Given the description of an element on the screen output the (x, y) to click on. 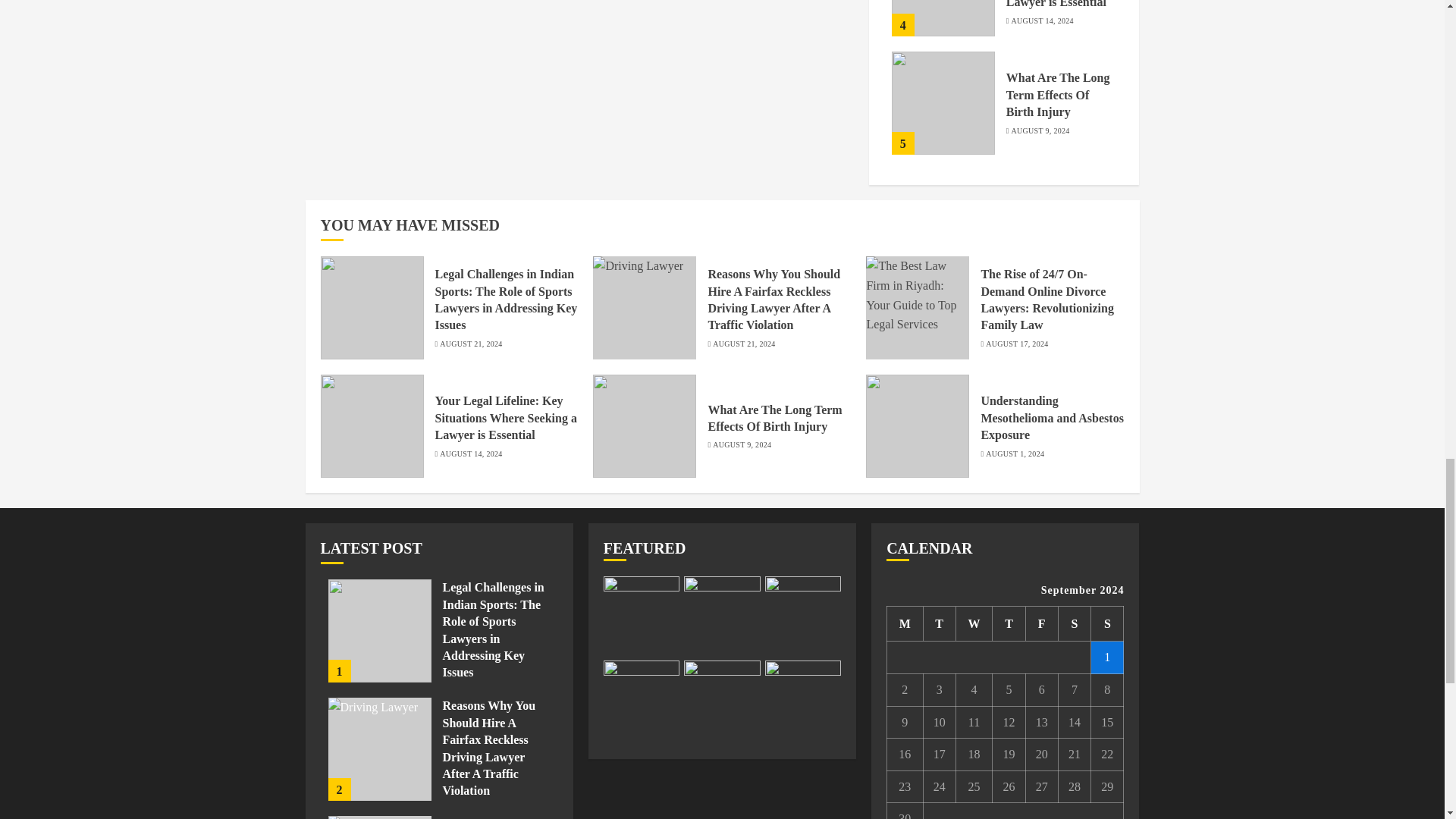
Sunday (1107, 623)
Tuesday (939, 623)
Thursday (1008, 623)
Wednesday (973, 623)
Monday (904, 623)
Saturday (1074, 623)
Friday (1041, 623)
